Given the description of an element on the screen output the (x, y) to click on. 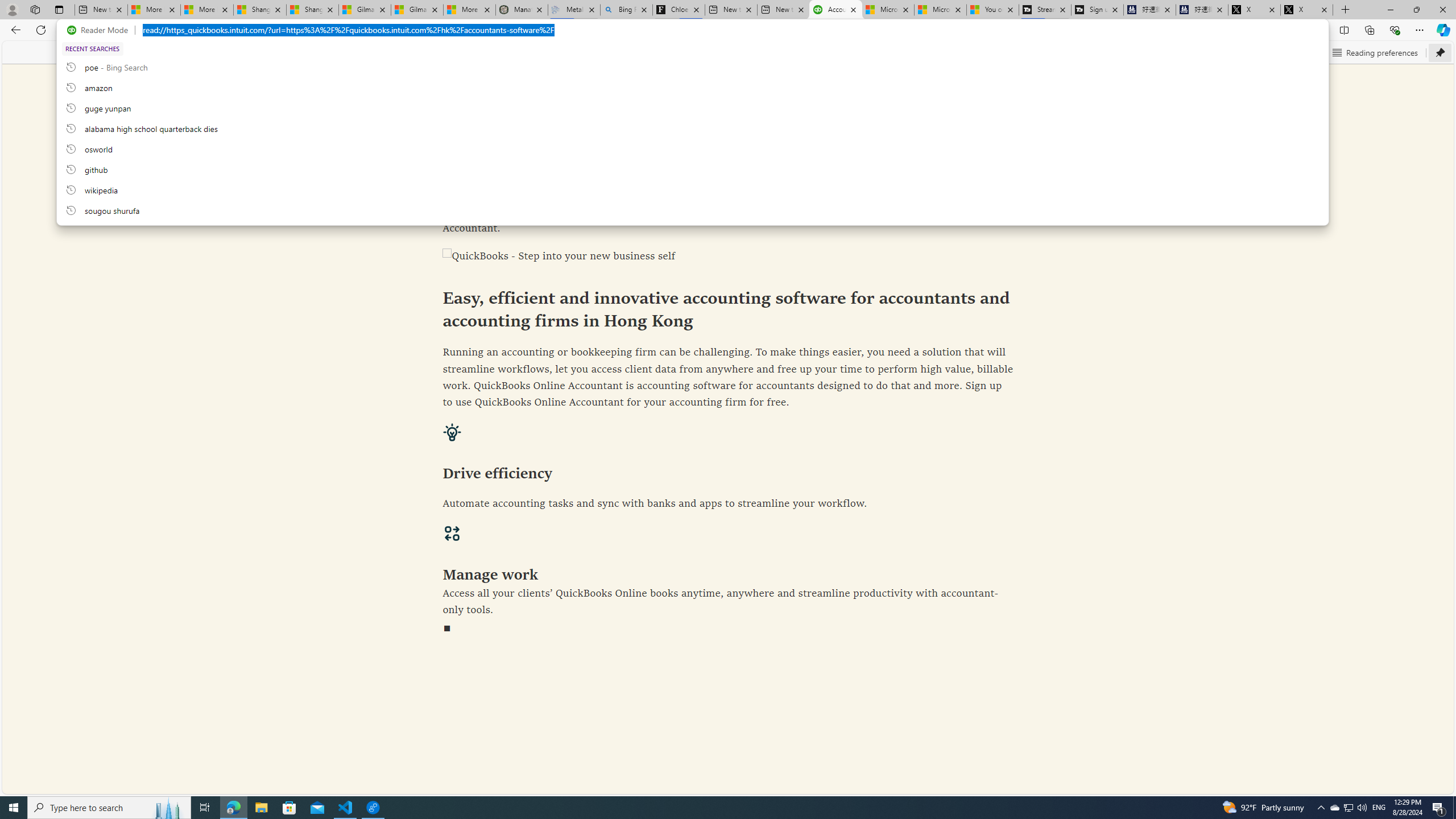
Reader Mode (100, 29)
Streaming Coverage | T3 (1044, 9)
Shanghai, China weather forecast | Microsoft Weather (312, 9)
Reading preferences (1374, 52)
Unpin toolbar (1439, 52)
Manatee Mortality Statistics | FWC (521, 9)
